Given the description of an element on the screen output the (x, y) to click on. 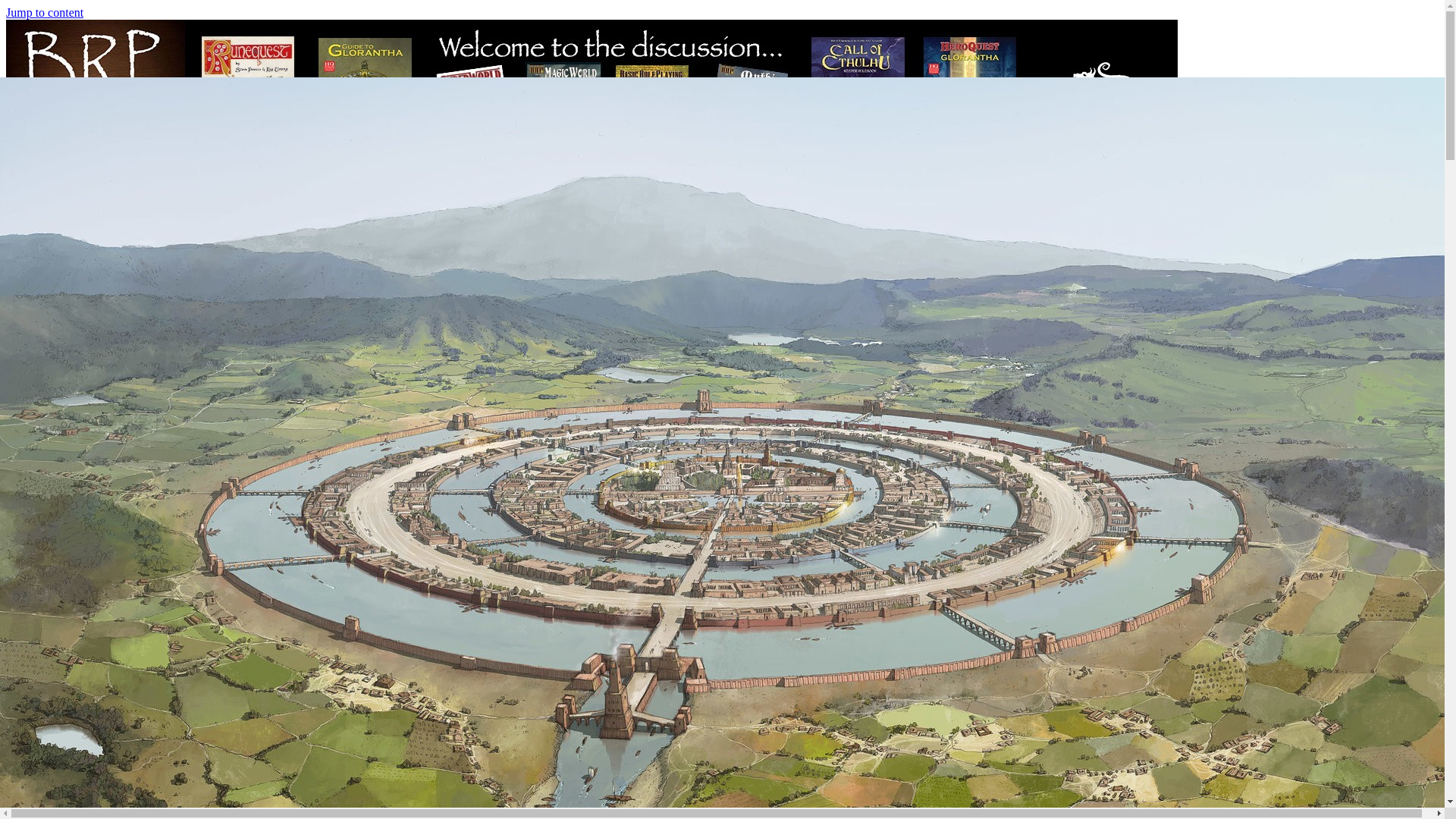
Sign Up (56, 394)
Forgot your password? (121, 368)
More (79, 513)
Go to main content on this page (43, 11)
Existing user? Sign In   (92, 192)
More (49, 500)
Sign In (88, 342)
Browse (84, 691)
1 (74, 312)
More (110, 800)
Jump to content (43, 11)
